Given the description of an element on the screen output the (x, y) to click on. 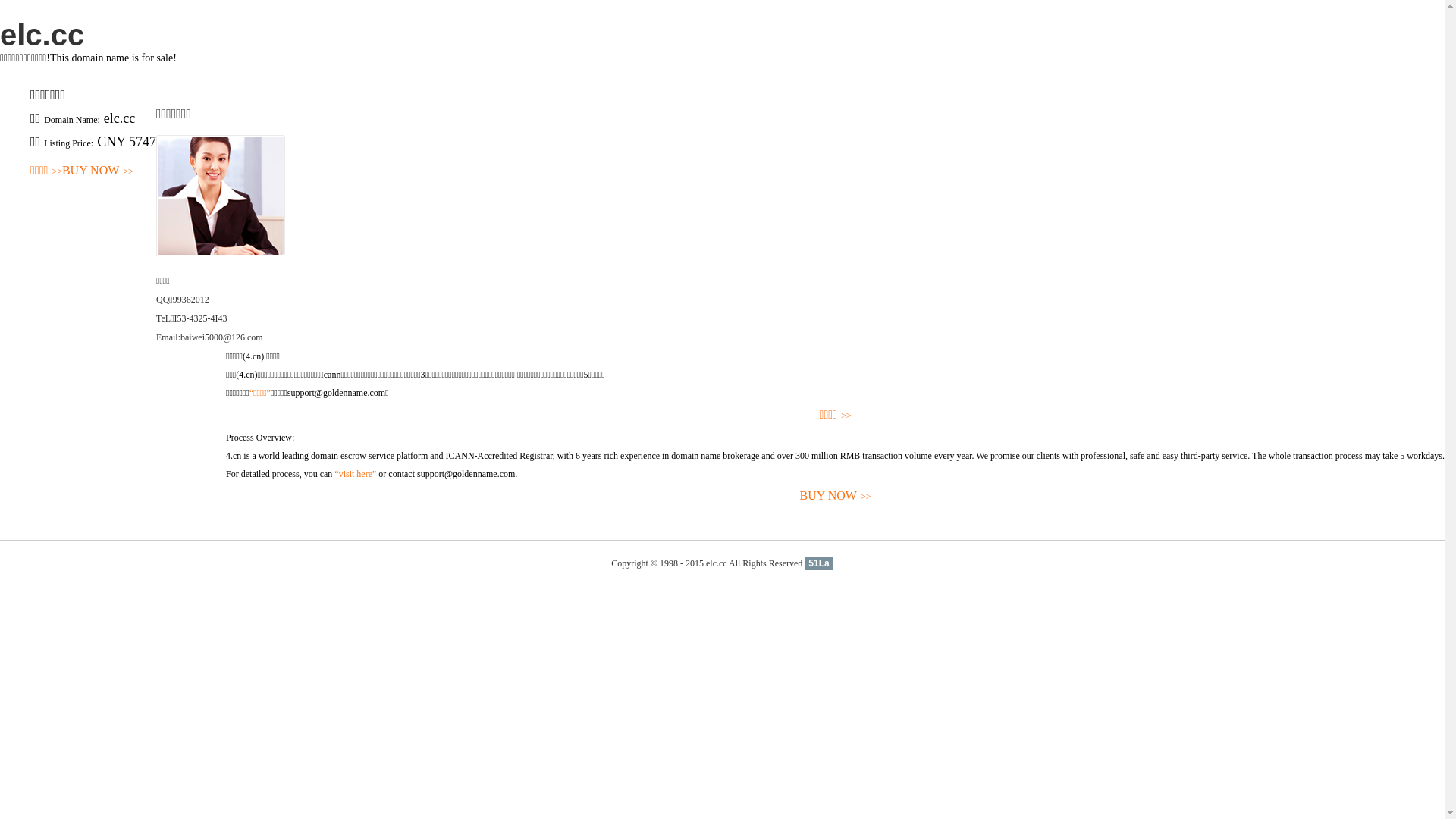
BUY NOW>> Element type: text (834, 496)
51La Element type: text (818, 563)
BUY NOW>> Element type: text (97, 170)
